Given the description of an element on the screen output the (x, y) to click on. 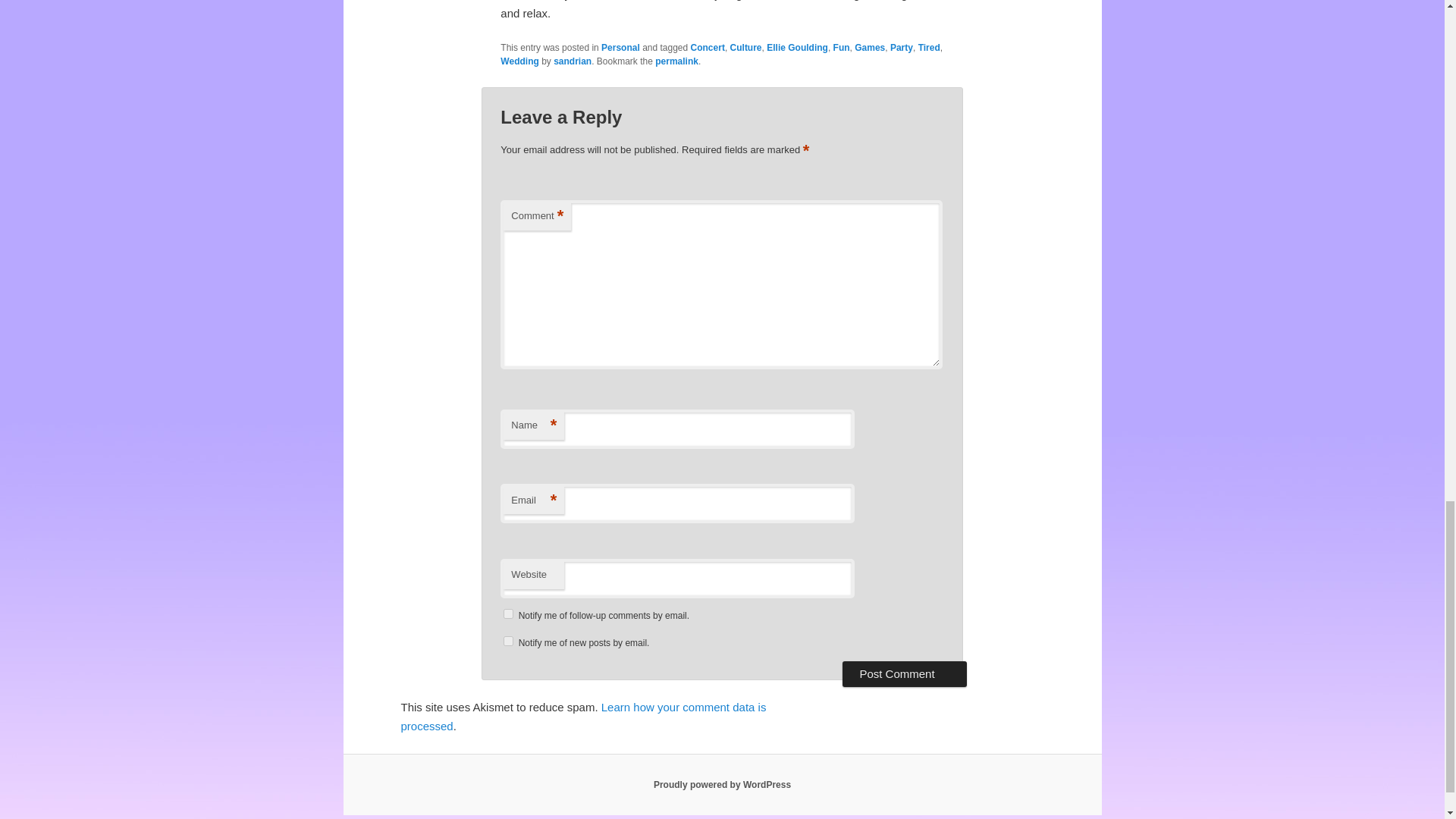
Wedding (519, 61)
Concert (707, 47)
Culture (745, 47)
subscribe (508, 614)
Semantic Personal Publishing Platform (721, 784)
Proudly powered by WordPress (721, 784)
Fun (841, 47)
Ellie Goulding (797, 47)
Learn how your comment data is processed (582, 716)
permalink (676, 61)
subscribe (508, 641)
Games (869, 47)
Post Comment (904, 673)
Party (900, 47)
sandrian (572, 61)
